Given the description of an element on the screen output the (x, y) to click on. 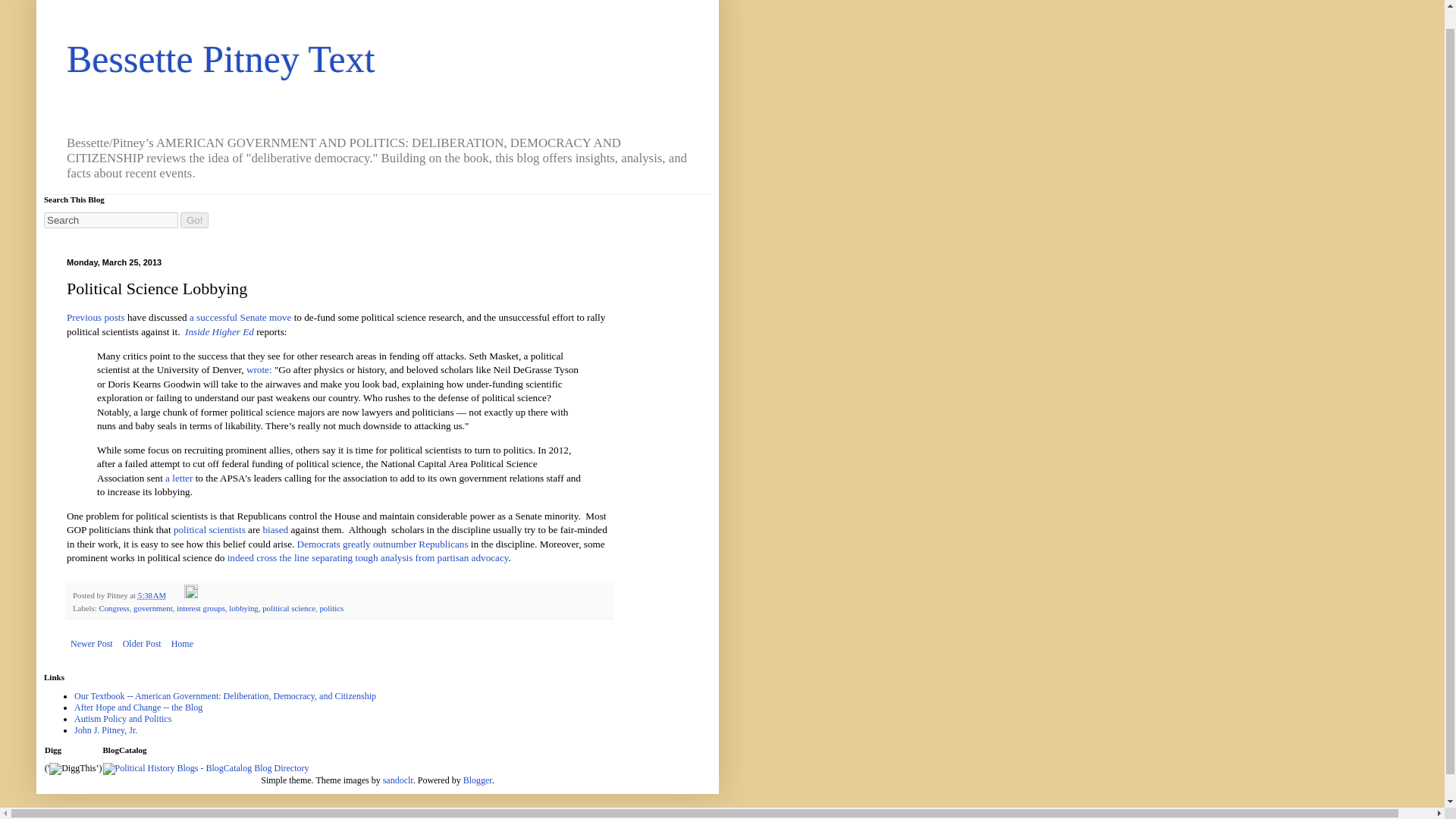
Email Post (176, 594)
Search (110, 220)
sandoclr (397, 779)
a letter (178, 478)
a successful Senate move (240, 317)
Autism Policy and Politics (122, 718)
political science (288, 607)
Political History Blogs - BlogCatalog Blog Directory (205, 767)
Previous posts (95, 317)
biased (274, 529)
Newer Post (91, 643)
lobbying (242, 607)
